Given the description of an element on the screen output the (x, y) to click on. 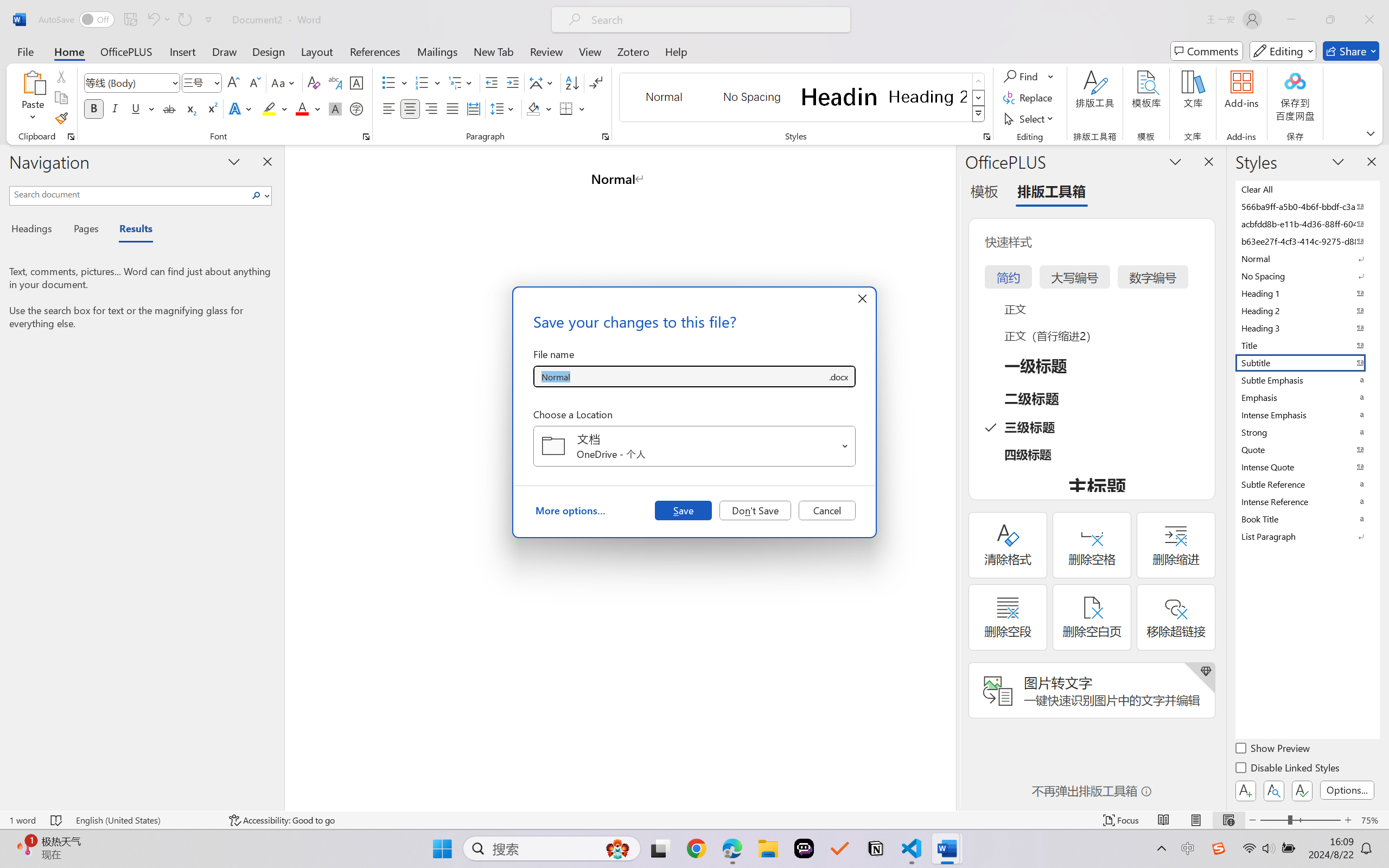
Class: MsoCommandBar (694, 819)
Borders (571, 108)
Bullets (388, 82)
Print Layout (1196, 819)
Grow Font (233, 82)
Phonetic Guide... (334, 82)
Font (132, 82)
Font Size (196, 82)
566ba9ff-a5b0-4b6f-bbdf-c3ab41993fc2 (1306, 206)
Subscript (190, 108)
Paste (33, 97)
Character Shading (334, 108)
